Given the description of an element on the screen output the (x, y) to click on. 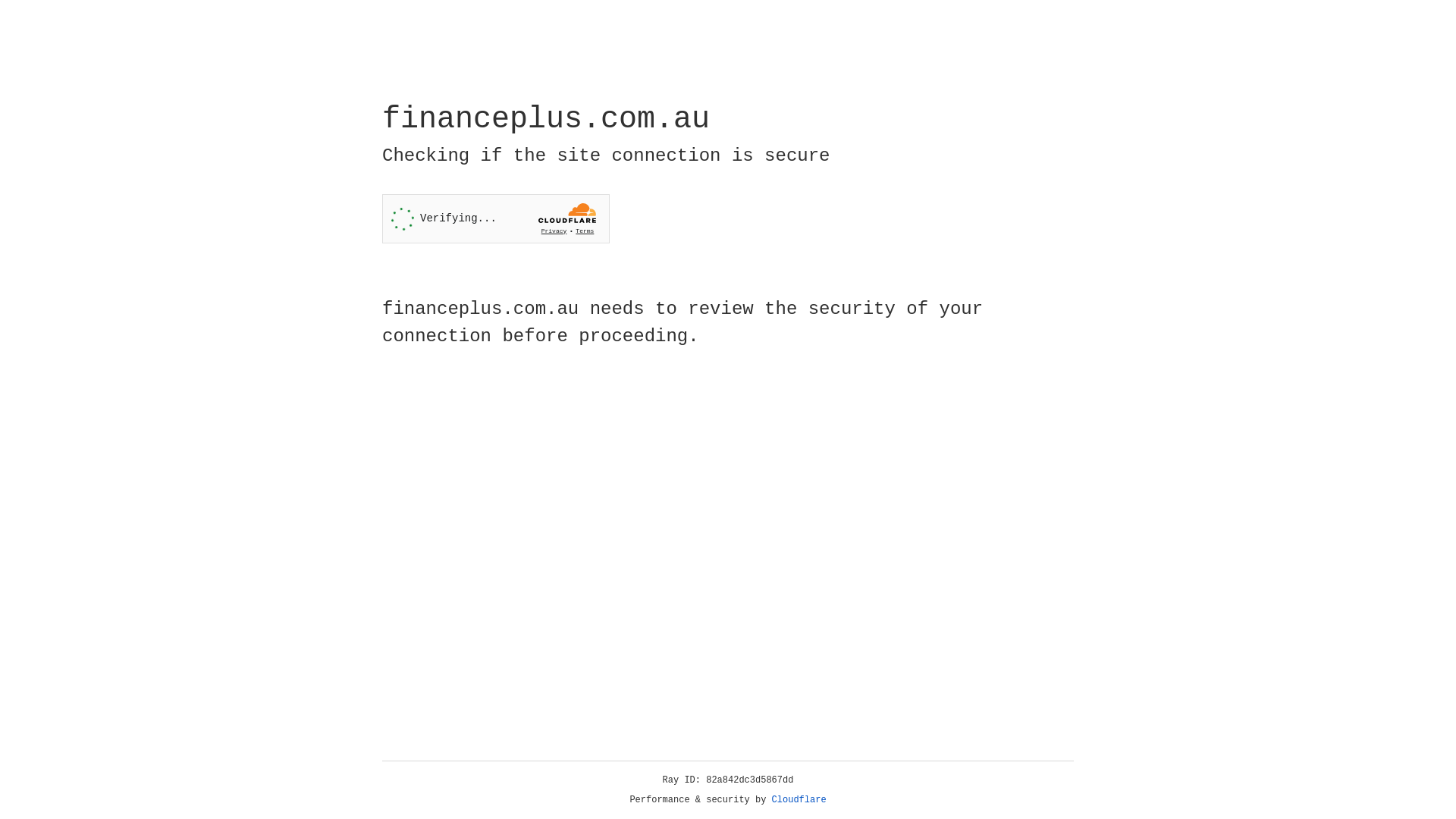
Widget containing a Cloudflare security challenge Element type: hover (495, 218)
Cloudflare Element type: text (798, 799)
